Given the description of an element on the screen output the (x, y) to click on. 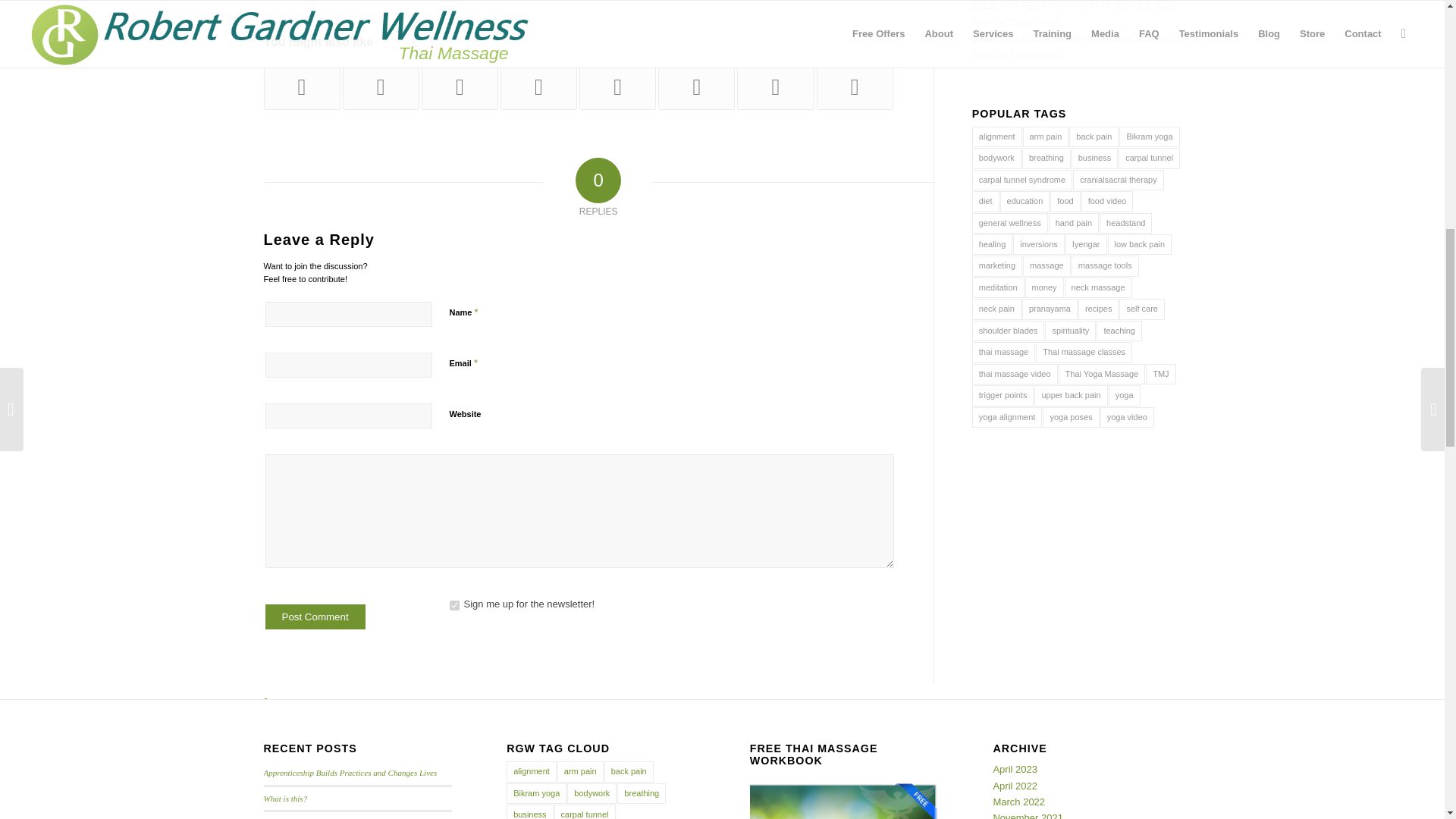
Headstand pt.1 (459, 86)
Plow pose (617, 86)
Post Comment (314, 616)
1 (453, 605)
Headstand pt.3 (774, 86)
Headstand pt.2 (696, 86)
Warrior 1 (301, 86)
variations in plow (380, 86)
How to forward bend (854, 86)
Triangle pose (538, 86)
